Given the description of an element on the screen output the (x, y) to click on. 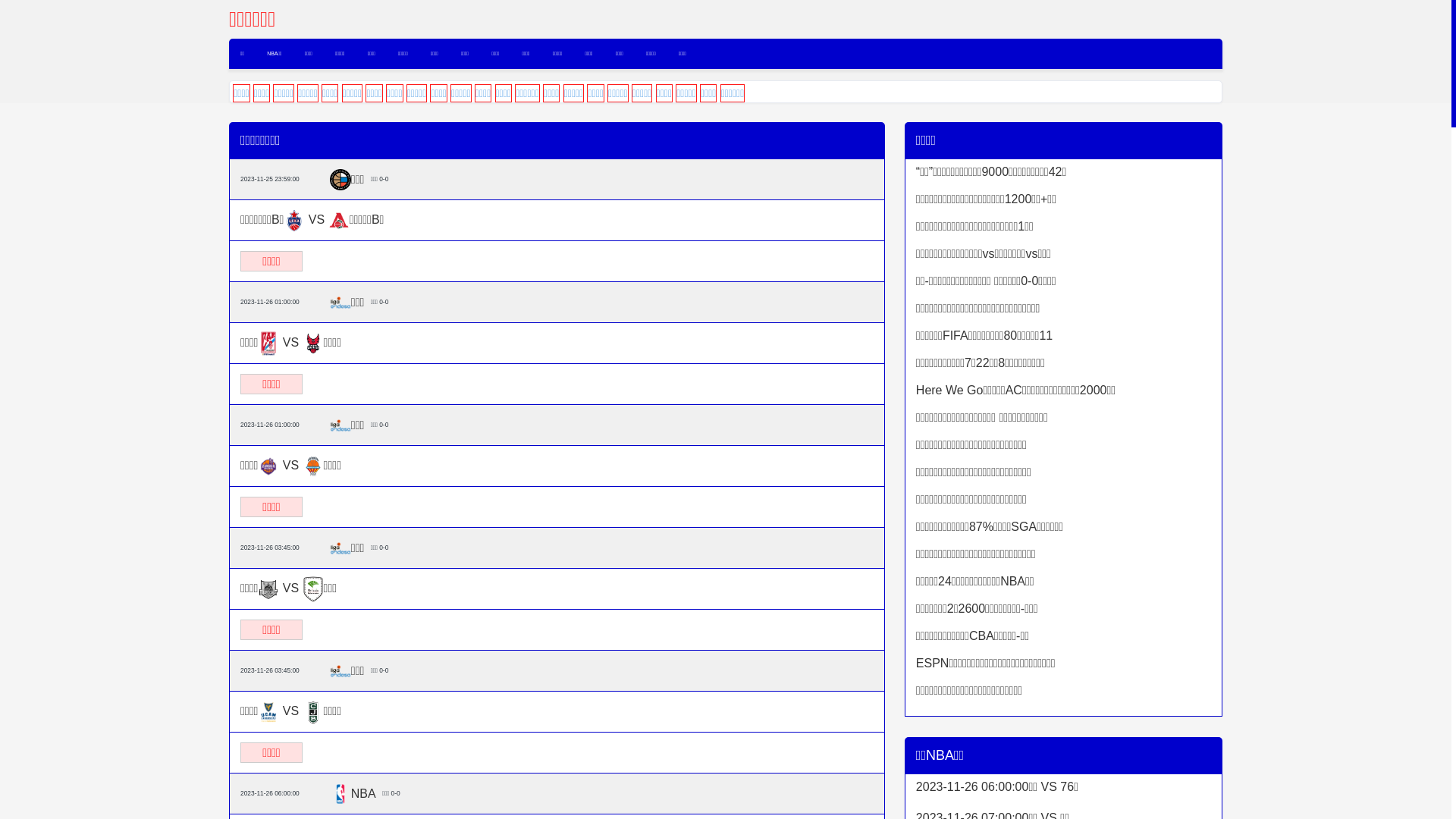
NBA Element type: hover (340, 793)
NBA Element type: text (363, 793)
